Given the description of an element on the screen output the (x, y) to click on. 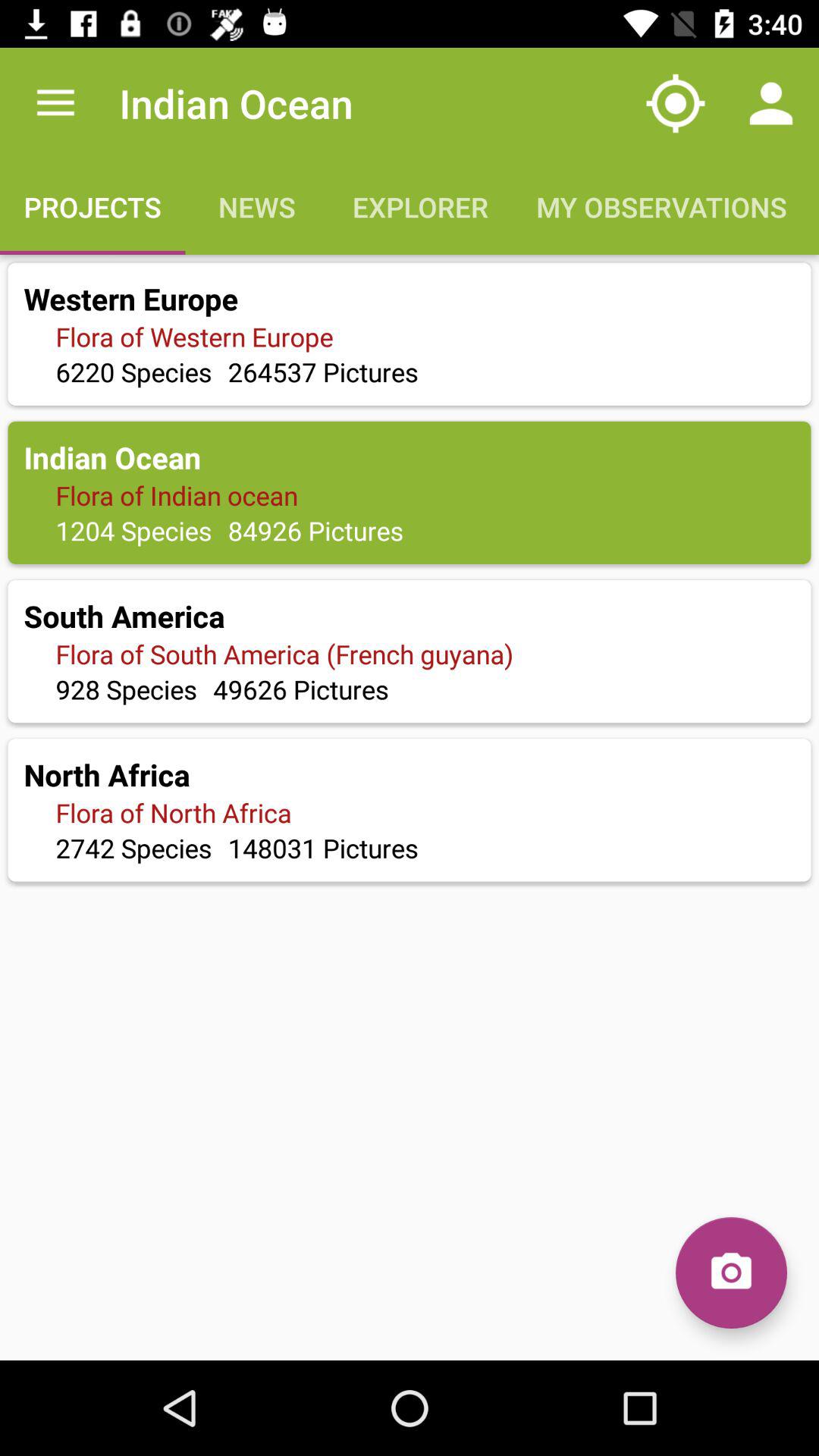
launch icon above my observations icon (771, 103)
